Given the description of an element on the screen output the (x, y) to click on. 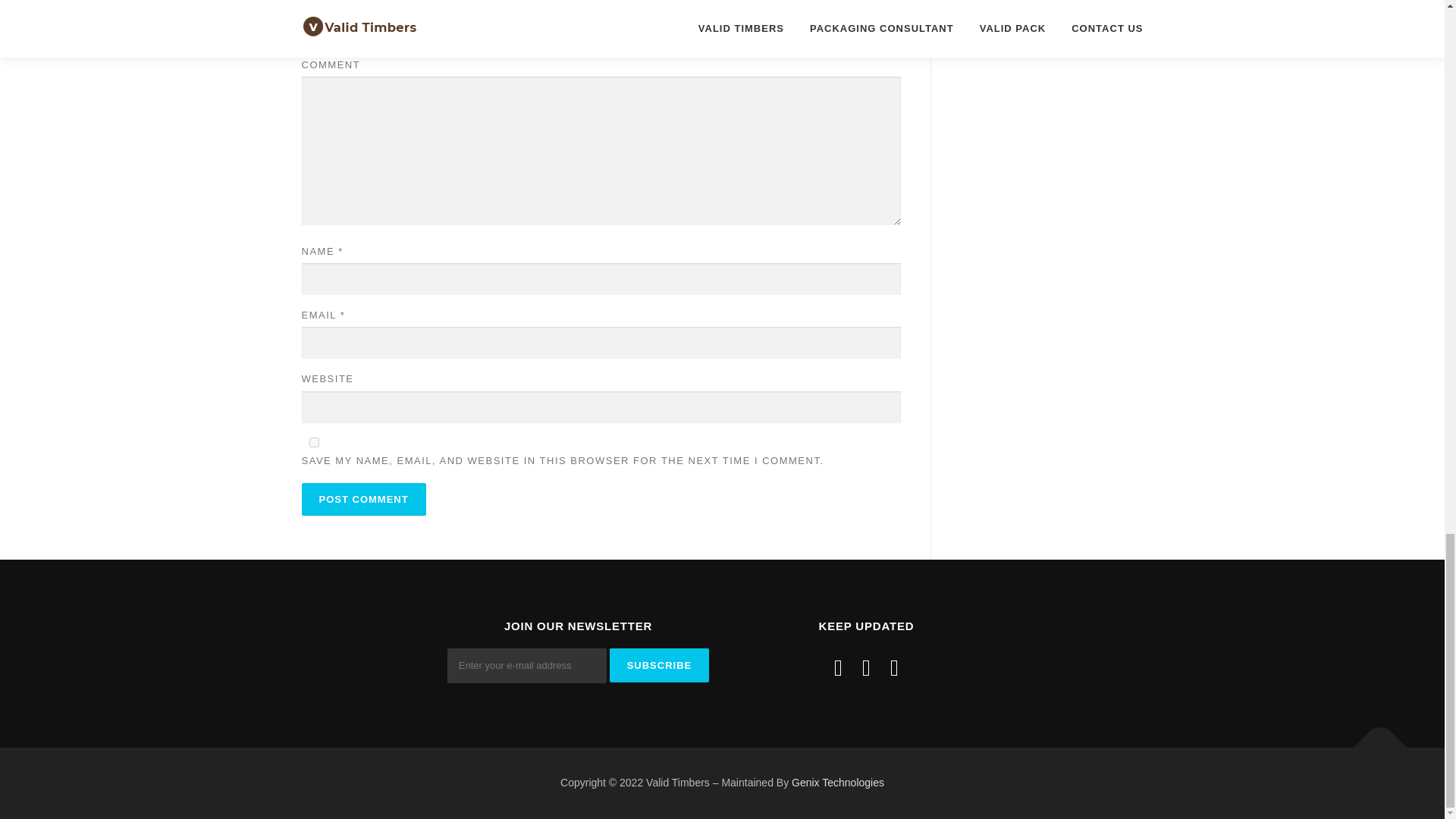
yes (313, 442)
Subscribe (660, 665)
Post Comment (363, 499)
Back To Top (1372, 740)
Post Comment (363, 499)
Subscribe (660, 665)
